Given the description of an element on the screen output the (x, y) to click on. 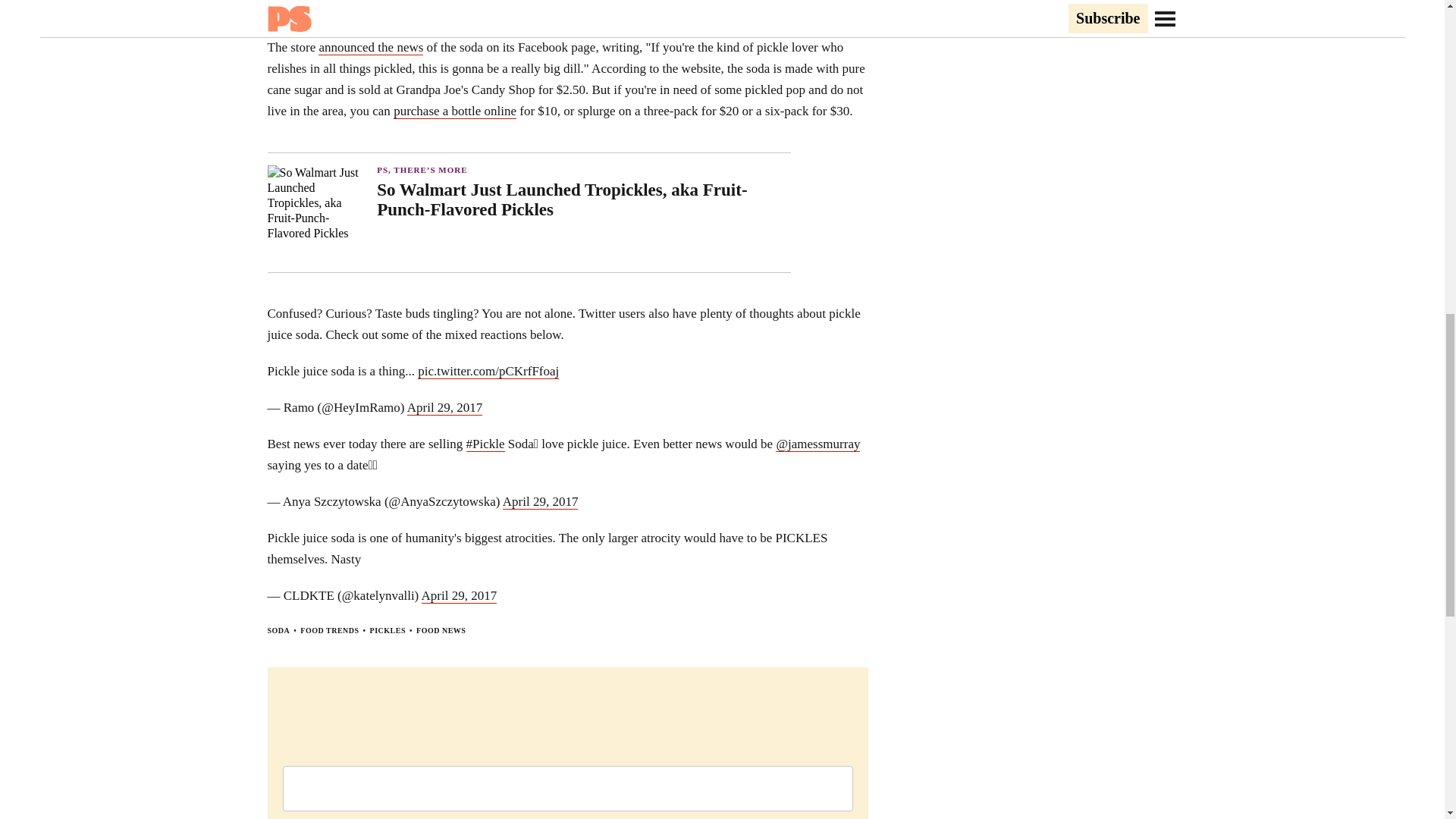
SODA (277, 630)
announced the news (370, 47)
April 29, 2017 (445, 407)
FOOD NEWS (440, 630)
April 29, 2017 (540, 501)
purchase a bottle online (454, 111)
FOOD TRENDS (328, 630)
PICKLES (387, 630)
April 29, 2017 (459, 595)
